Given the description of an element on the screen output the (x, y) to click on. 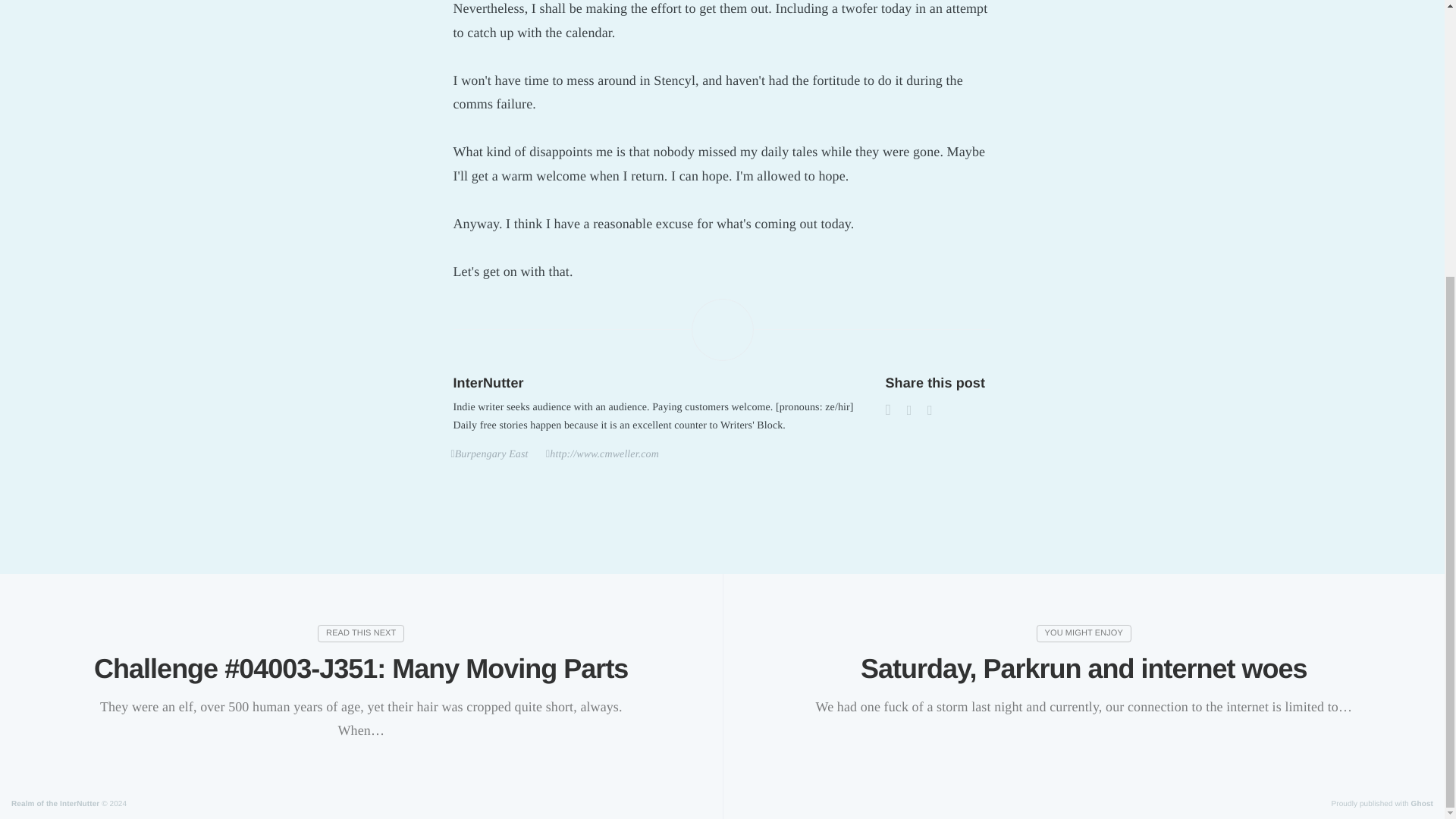
InterNutter (488, 382)
